Given the description of an element on the screen output the (x, y) to click on. 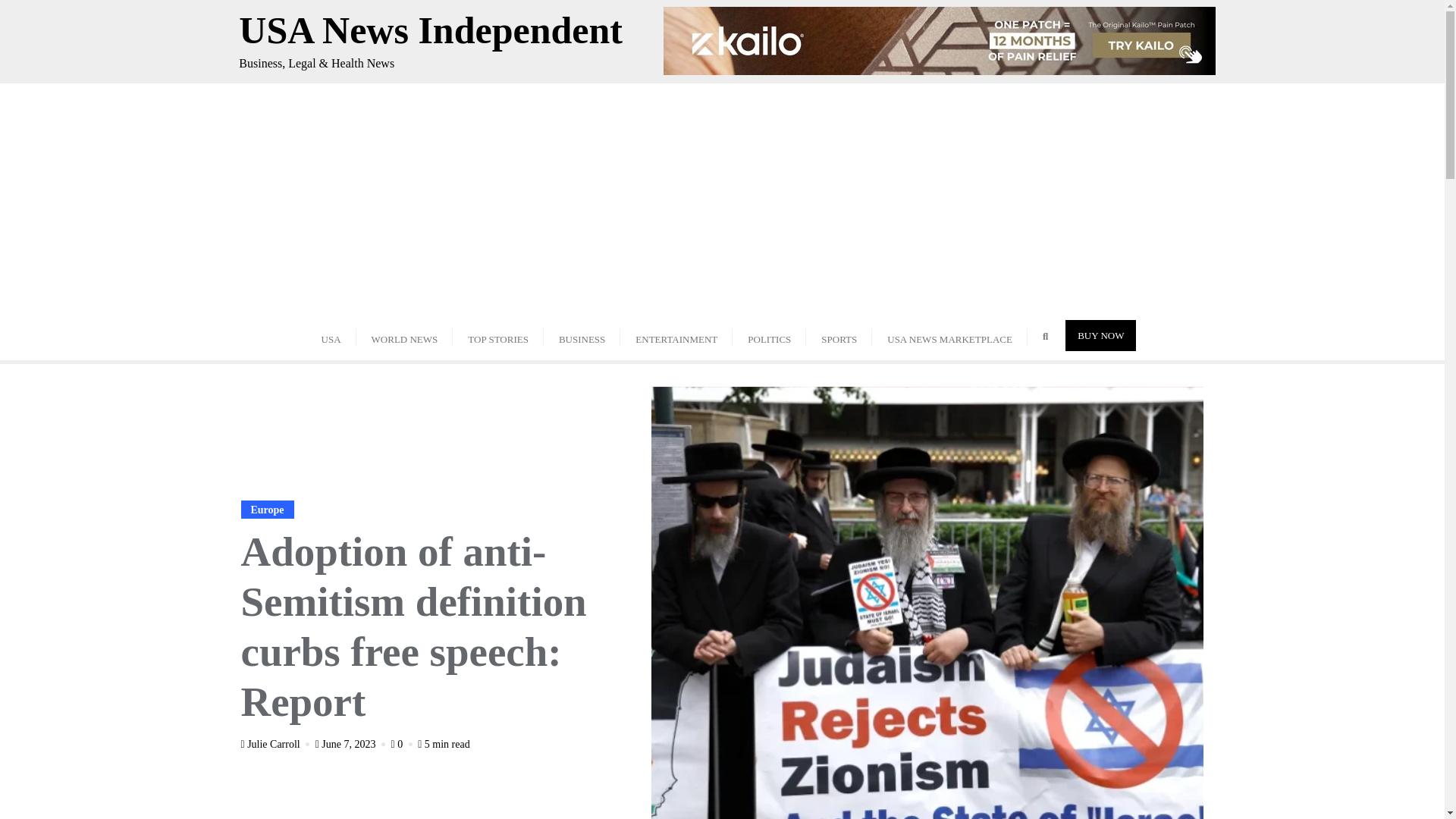
TOP STORIES (497, 335)
0 (402, 744)
June 7, 2023 (351, 744)
USA NEWS MARKETPLACE (949, 335)
5 min read (443, 744)
USA (330, 335)
BUSINESS (581, 335)
ENTERTAINMENT (676, 335)
WORLD NEWS (404, 335)
BUY NOW (1100, 334)
